Given the description of an element on the screen output the (x, y) to click on. 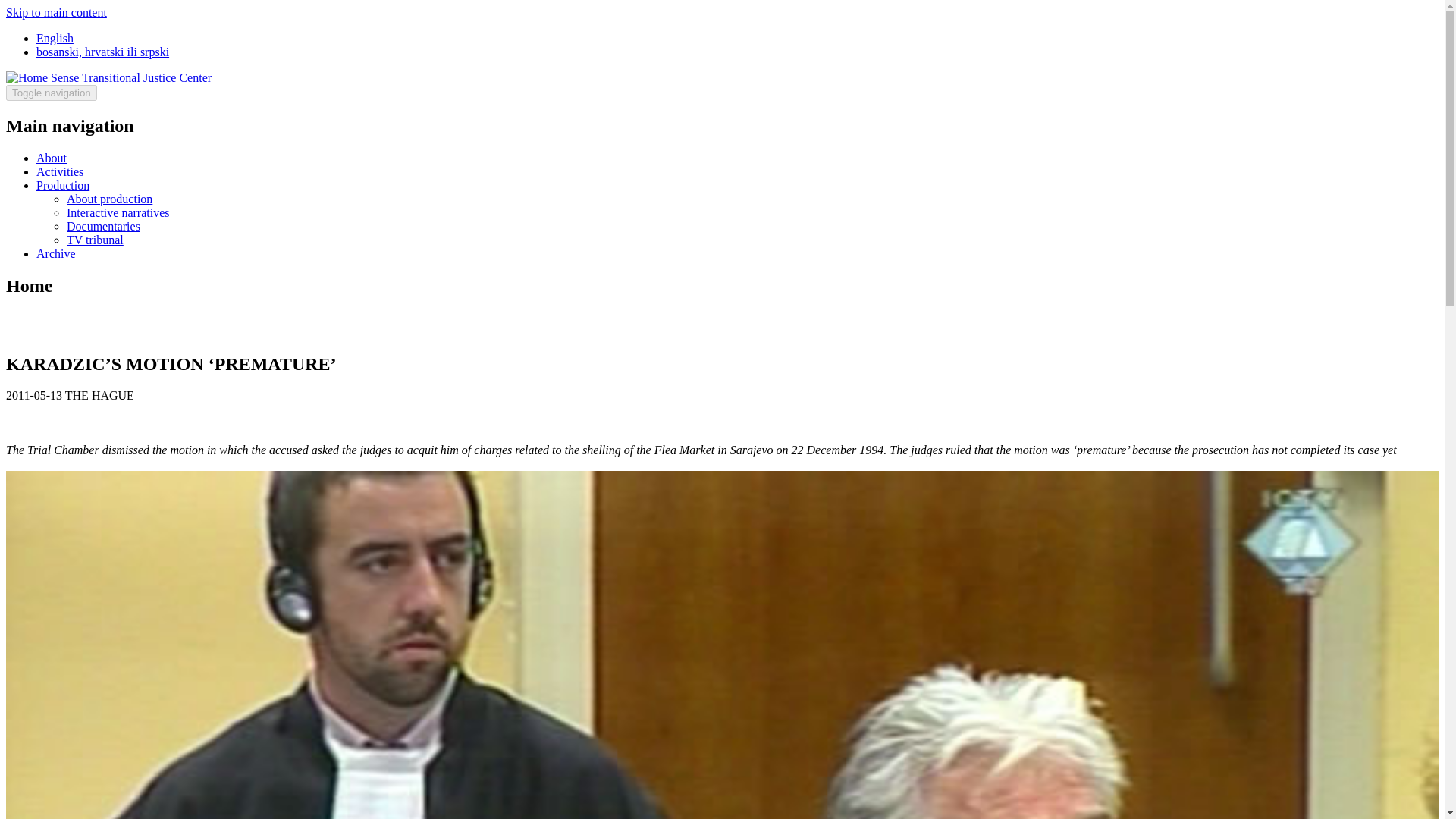
bosanski, hrvatski ili srpski (102, 51)
Documentaries (102, 226)
Toggle navigation (51, 92)
About the SENSE Center (51, 157)
Home (27, 77)
About (51, 157)
English (55, 38)
Archive (55, 253)
Skip to main content (55, 11)
Interactive narratives (117, 212)
Home (130, 77)
Sense Transitional Justice Center (130, 77)
TV tribunal (94, 239)
Activities (59, 171)
Production (62, 185)
